Given the description of an element on the screen output the (x, y) to click on. 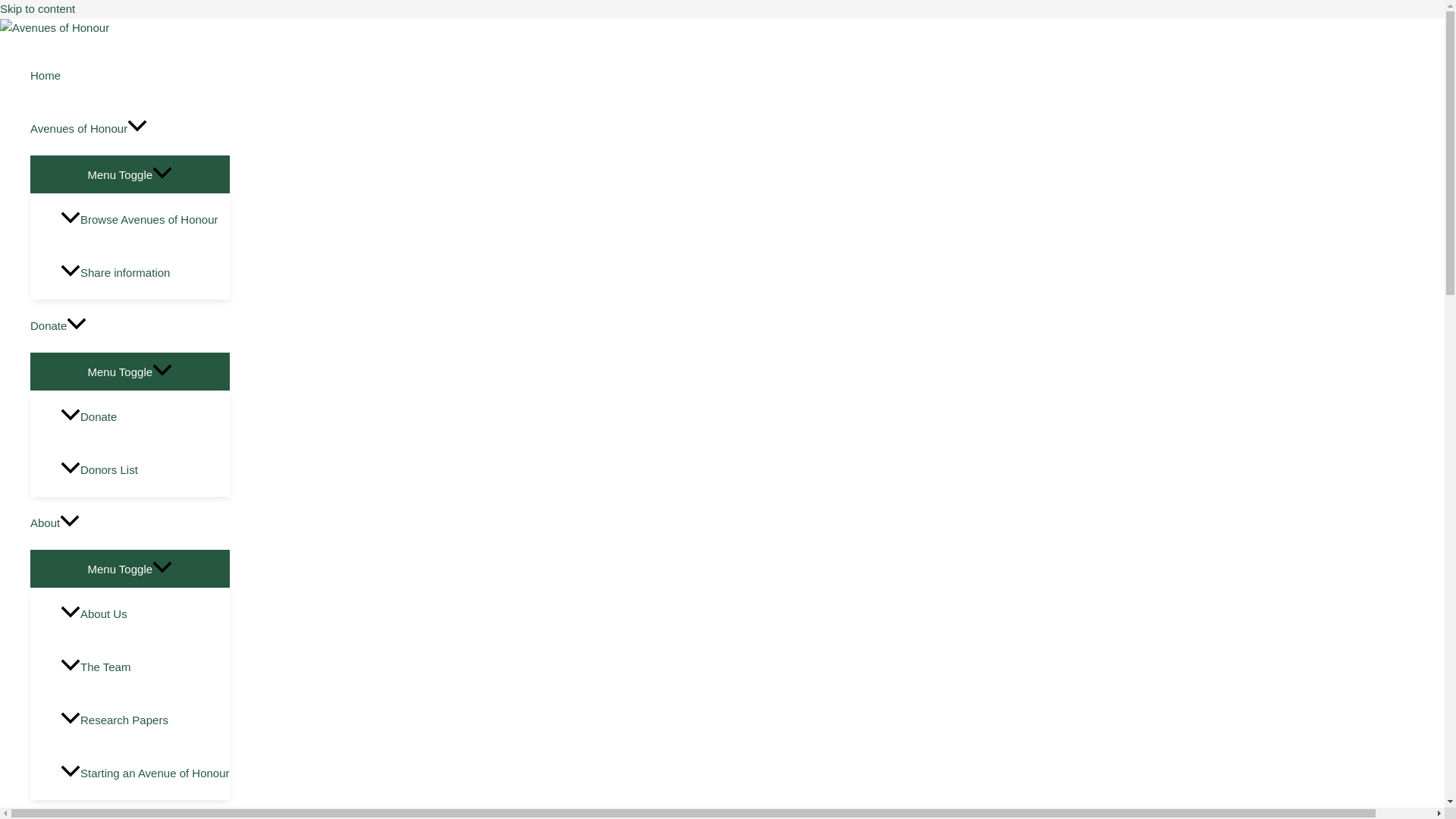
The Team (145, 666)
Research Papers (145, 719)
Starting an Avenue of Honour (145, 773)
About (130, 522)
Browse Avenues of Honour (145, 219)
Donate (145, 416)
Share information (145, 272)
About Us (145, 614)
News (130, 809)
Skip to content (37, 8)
